Given the description of an element on the screen output the (x, y) to click on. 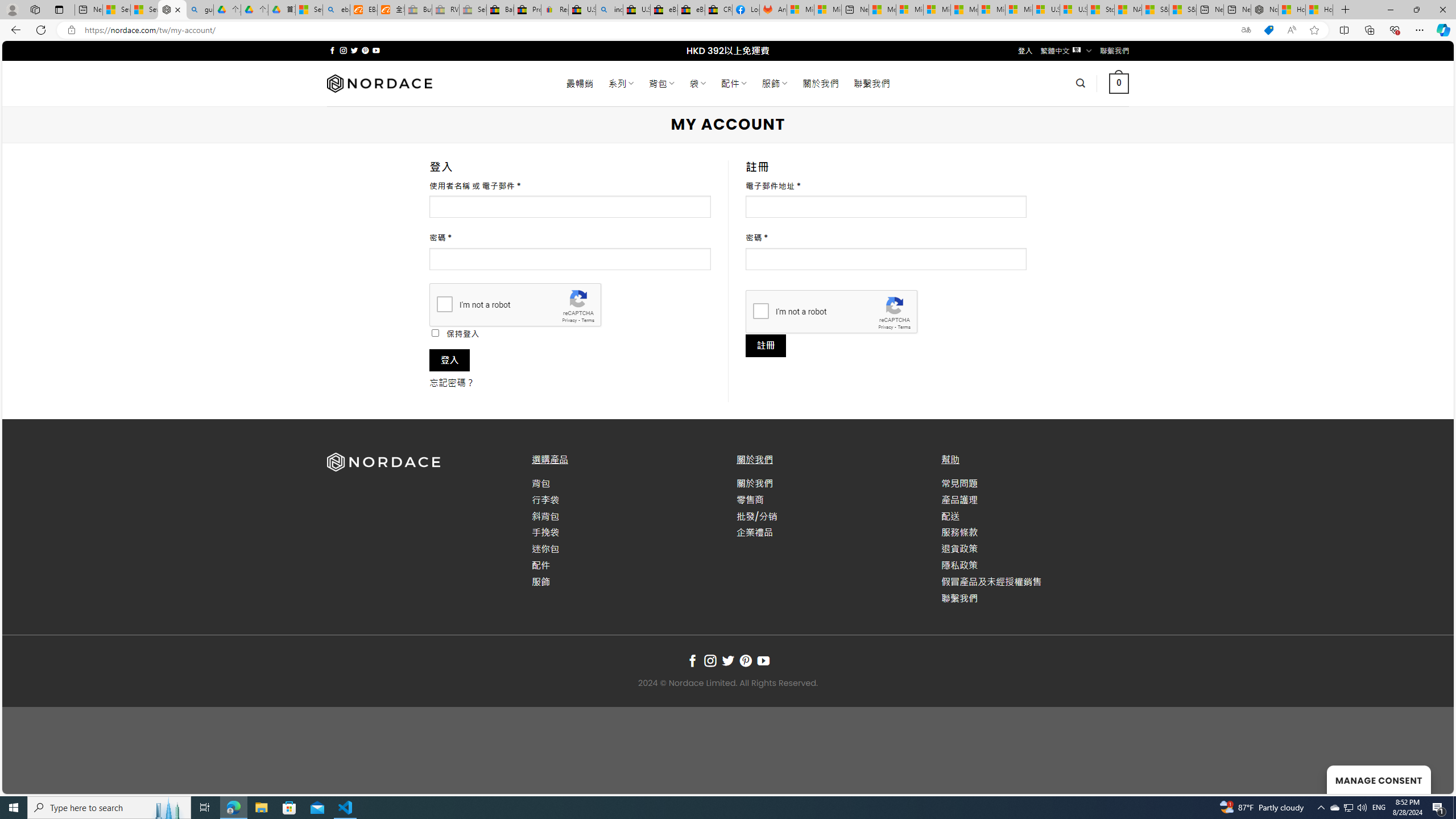
S&P 500, Nasdaq end lower, weighed by Nvidia dip | Watch (1182, 9)
 0  (1118, 83)
I'm not a robot (760, 310)
Microsoft account | Home (936, 9)
including - Search (609, 9)
